Given the description of an element on the screen output the (x, y) to click on. 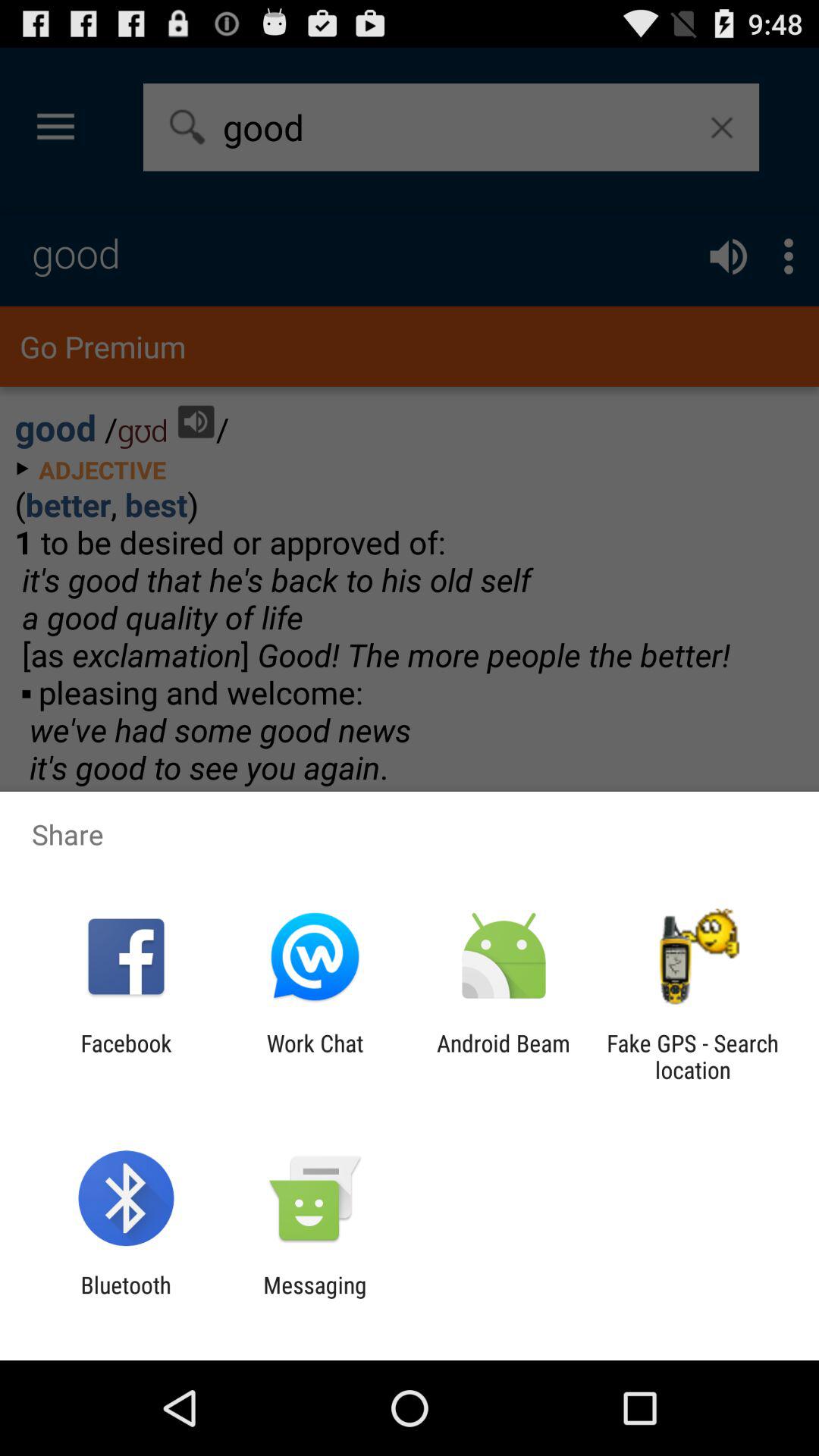
turn on work chat icon (314, 1056)
